Given the description of an element on the screen output the (x, y) to click on. 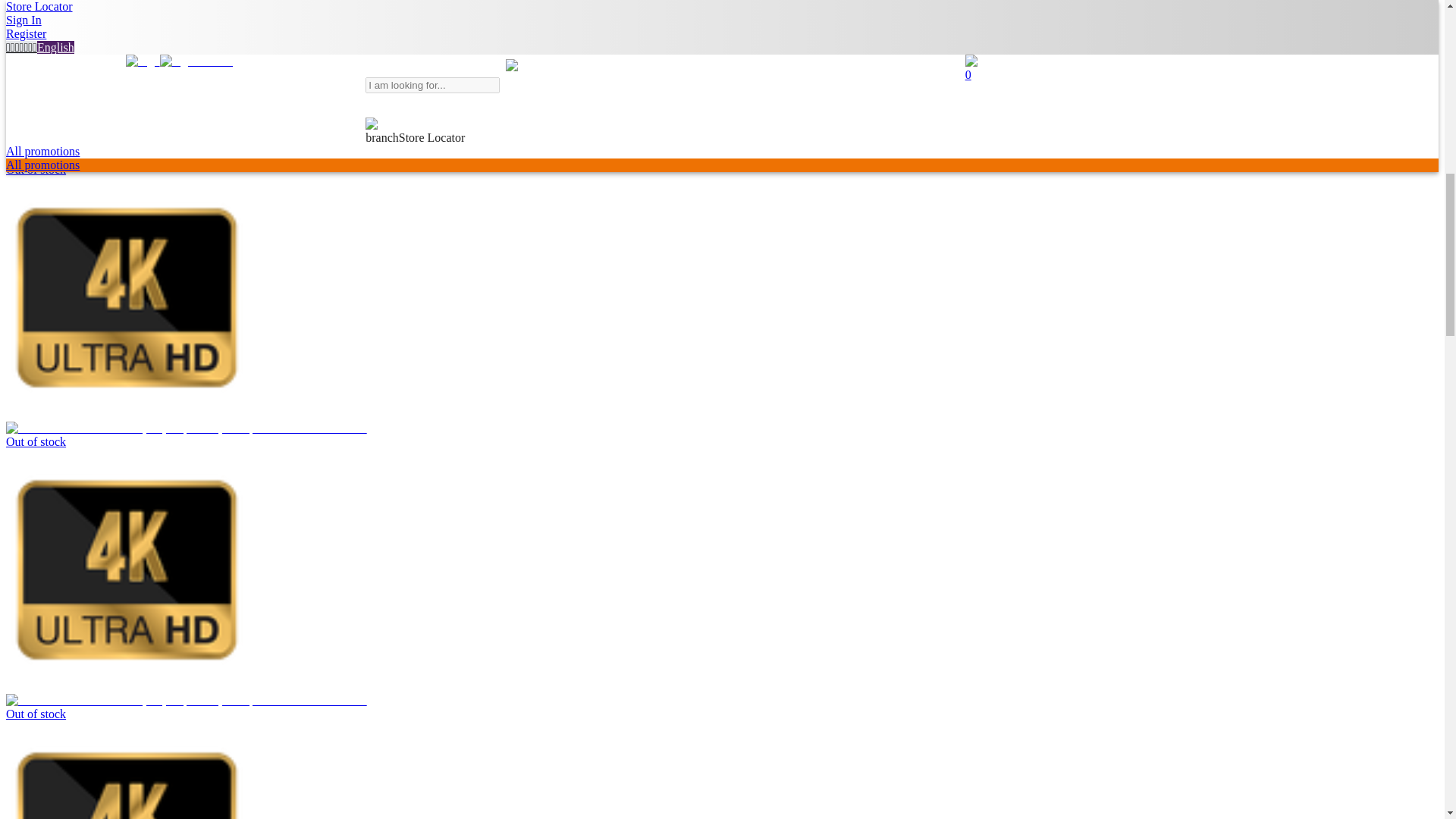
Out of stock (204, 707)
Out of stock (204, 162)
Copy (446, 15)
Out of stock (204, 434)
